Given the description of an element on the screen output the (x, y) to click on. 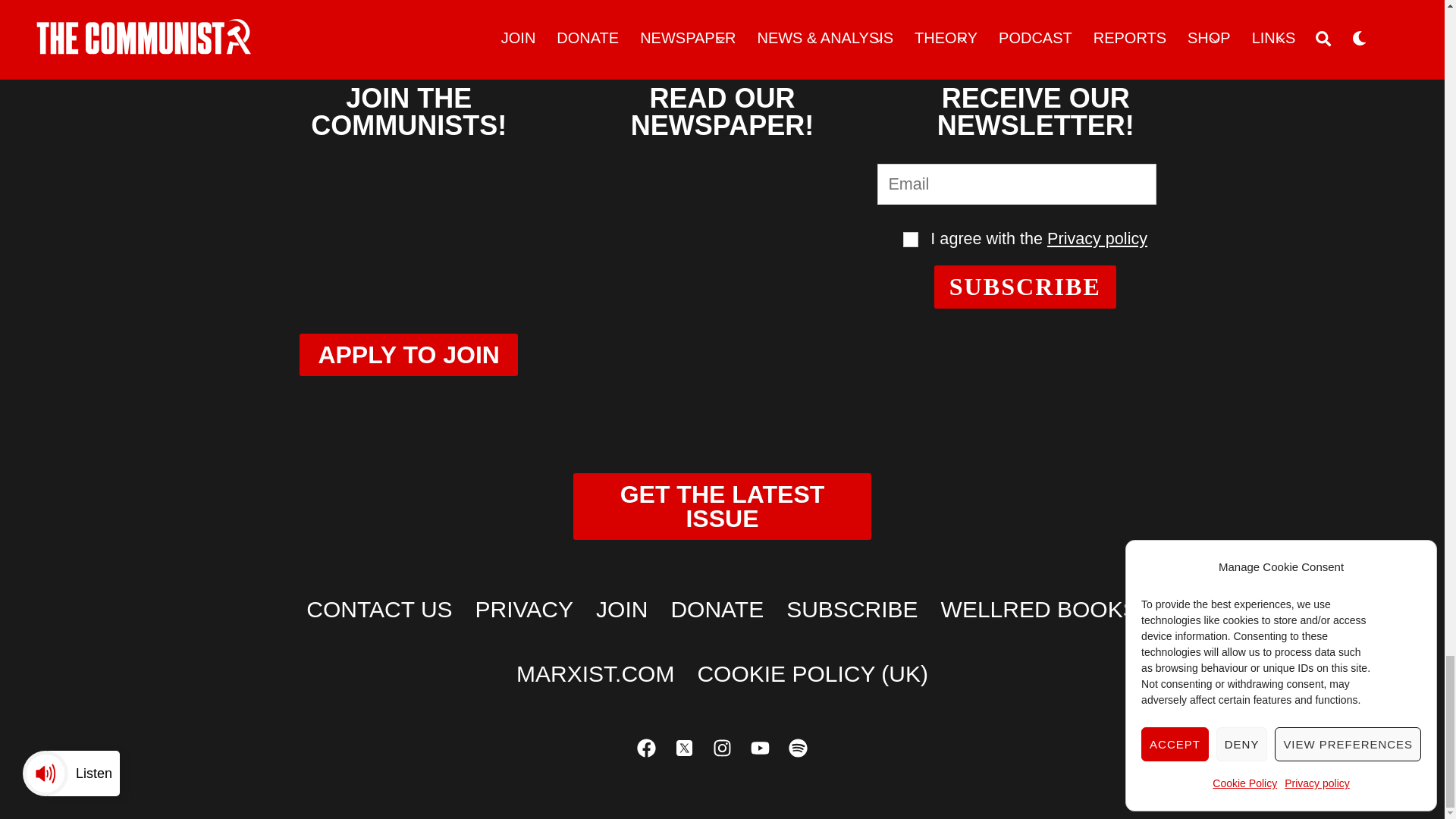
on (910, 239)
Privacy policy (1096, 238)
Terms and conditions (910, 239)
